Given the description of an element on the screen output the (x, y) to click on. 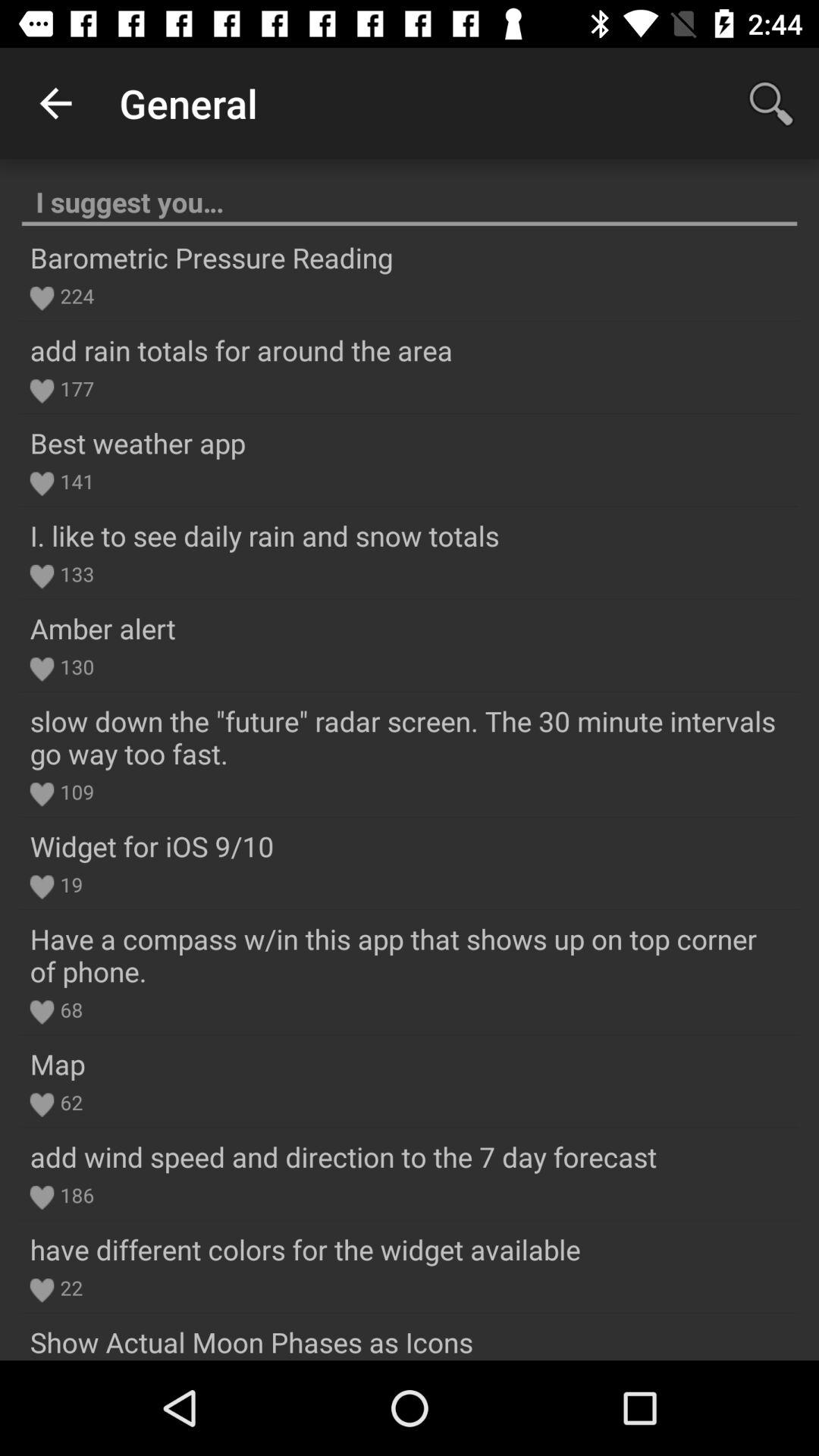
launch icon to the left of the 186 (42, 1197)
